Given the description of an element on the screen output the (x, y) to click on. 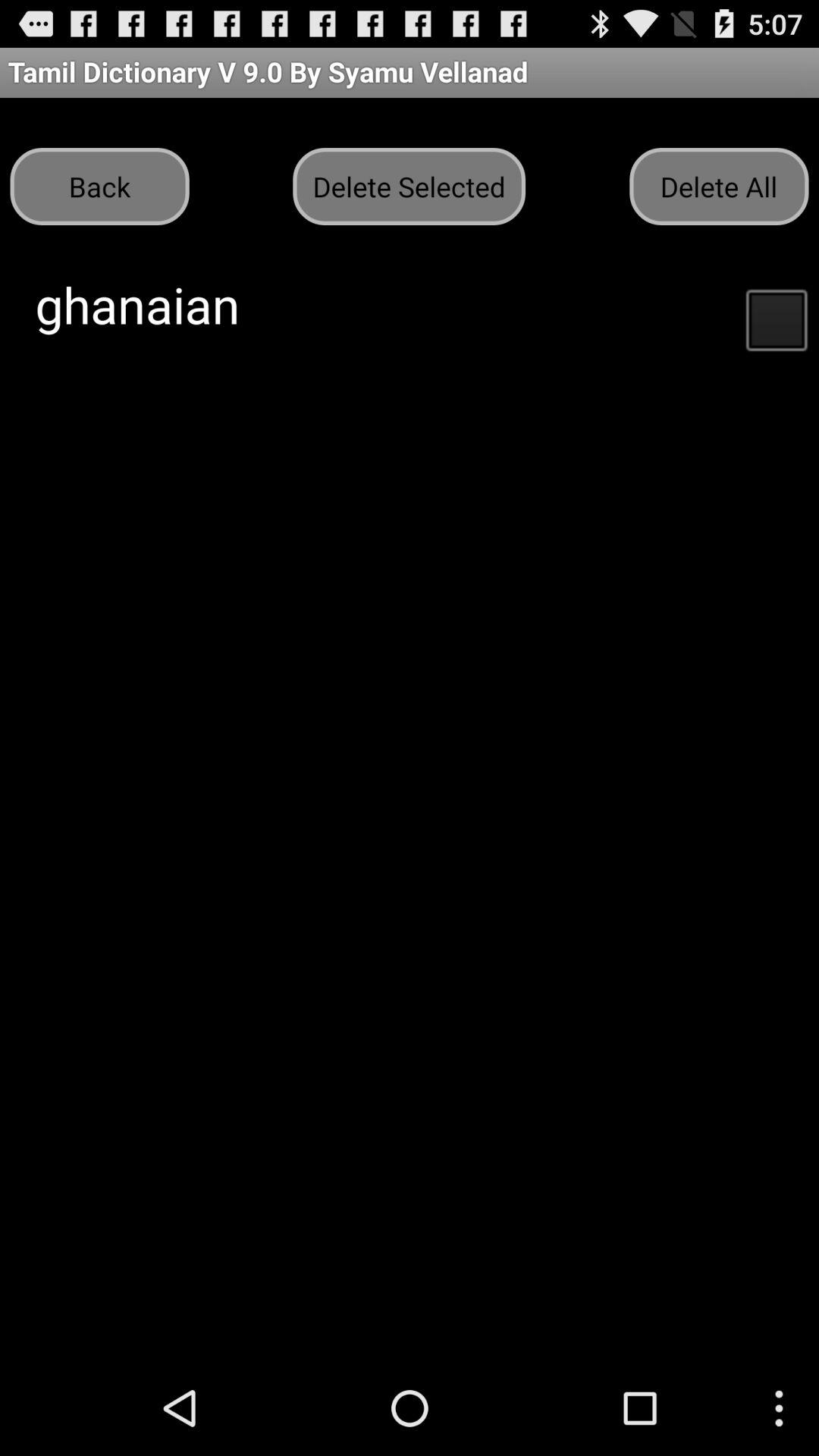
flip until delete selected icon (408, 186)
